Given the description of an element on the screen output the (x, y) to click on. 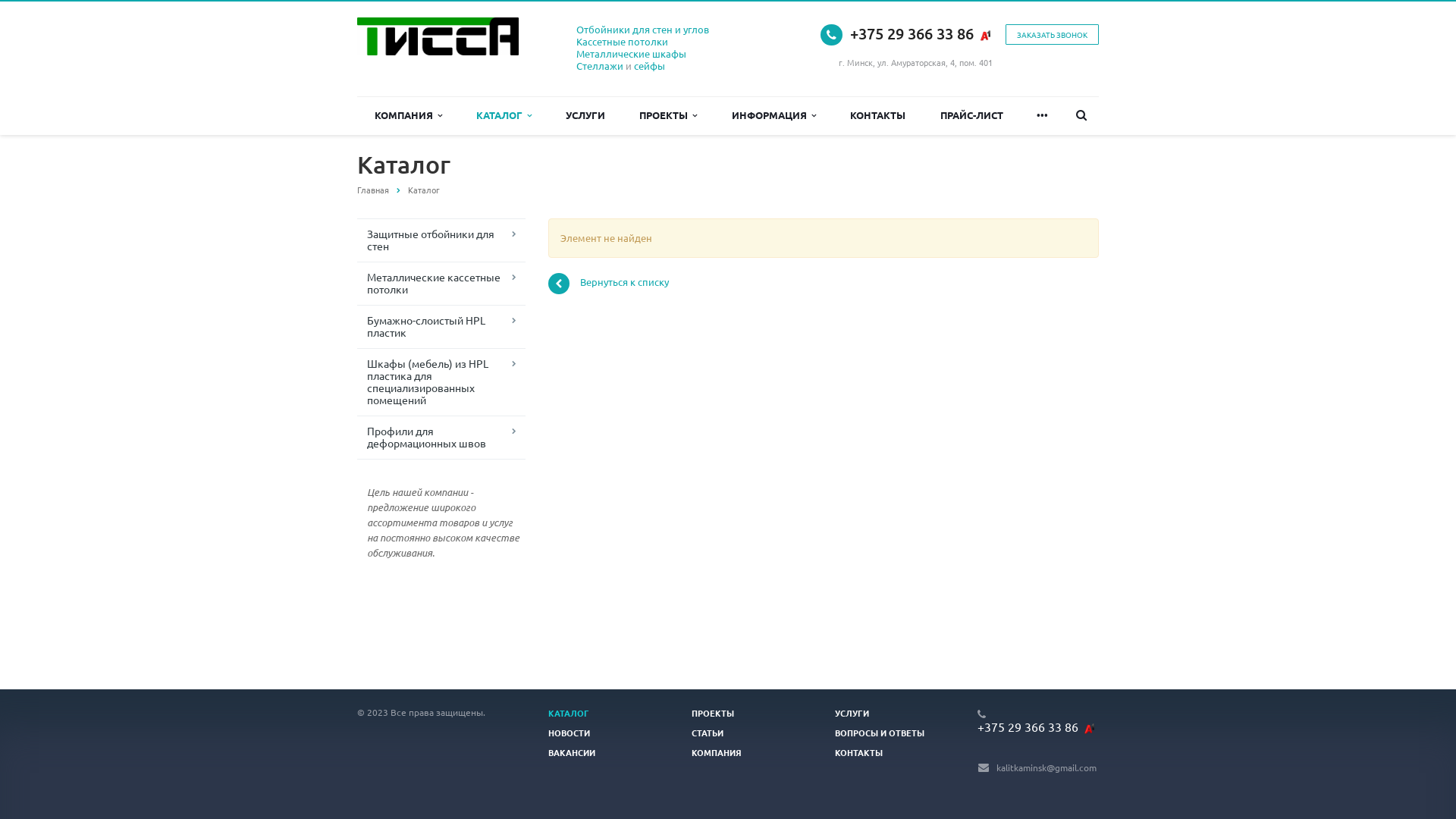
A1_01_08RED_3_L-768x768.png Element type: hover (1088, 728)
A1_01_08RED_3_L-768x768.png Element type: hover (984, 35)
... Element type: text (1041, 115)
kalitkaminsk@gmail.com Element type: text (1046, 767)
